Given the description of an element on the screen output the (x, y) to click on. 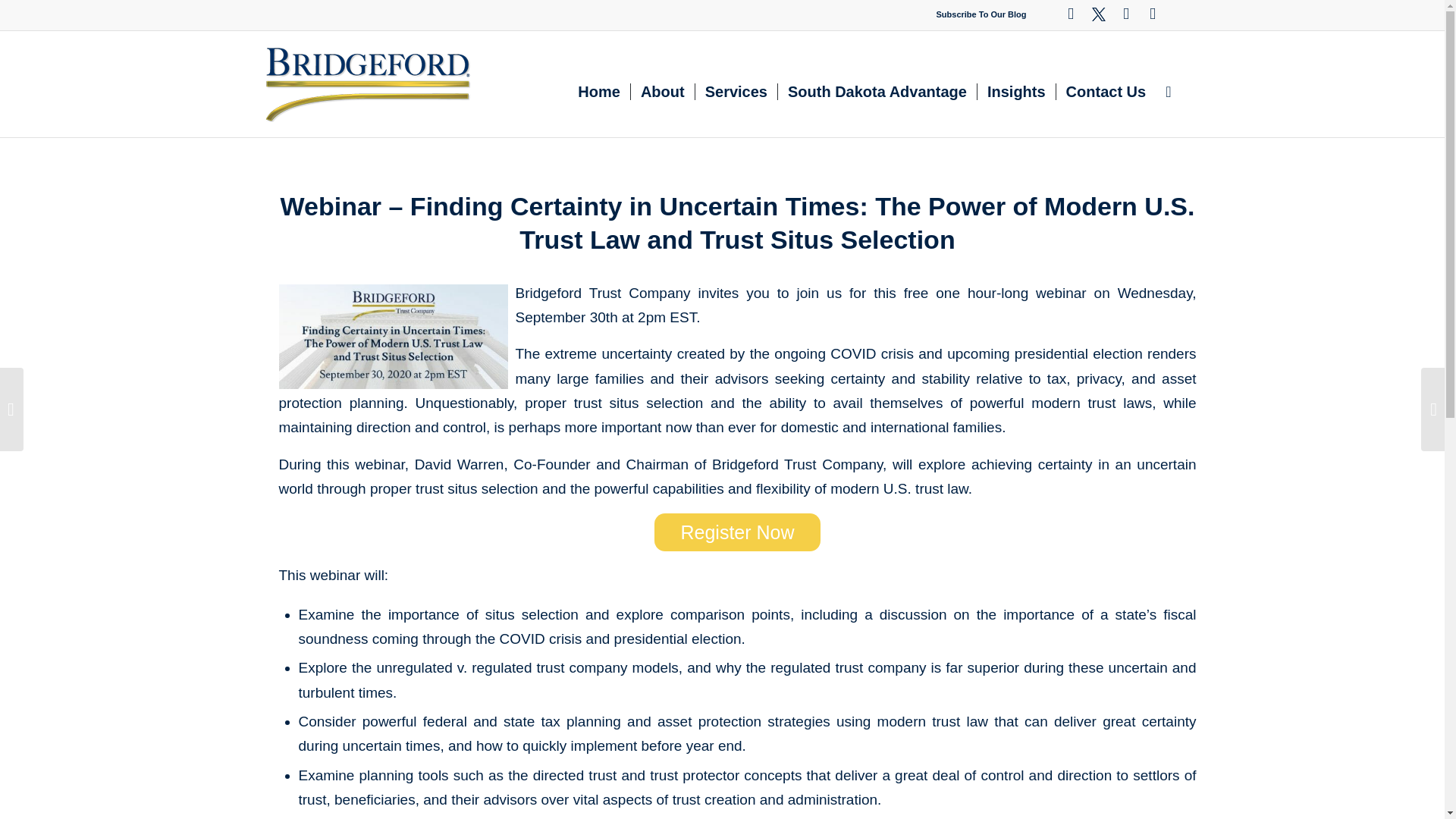
Twitter (1098, 15)
South Dakota Advantage (876, 91)
Services (735, 91)
Subscribe To Our Blog (981, 14)
